Given the description of an element on the screen output the (x, y) to click on. 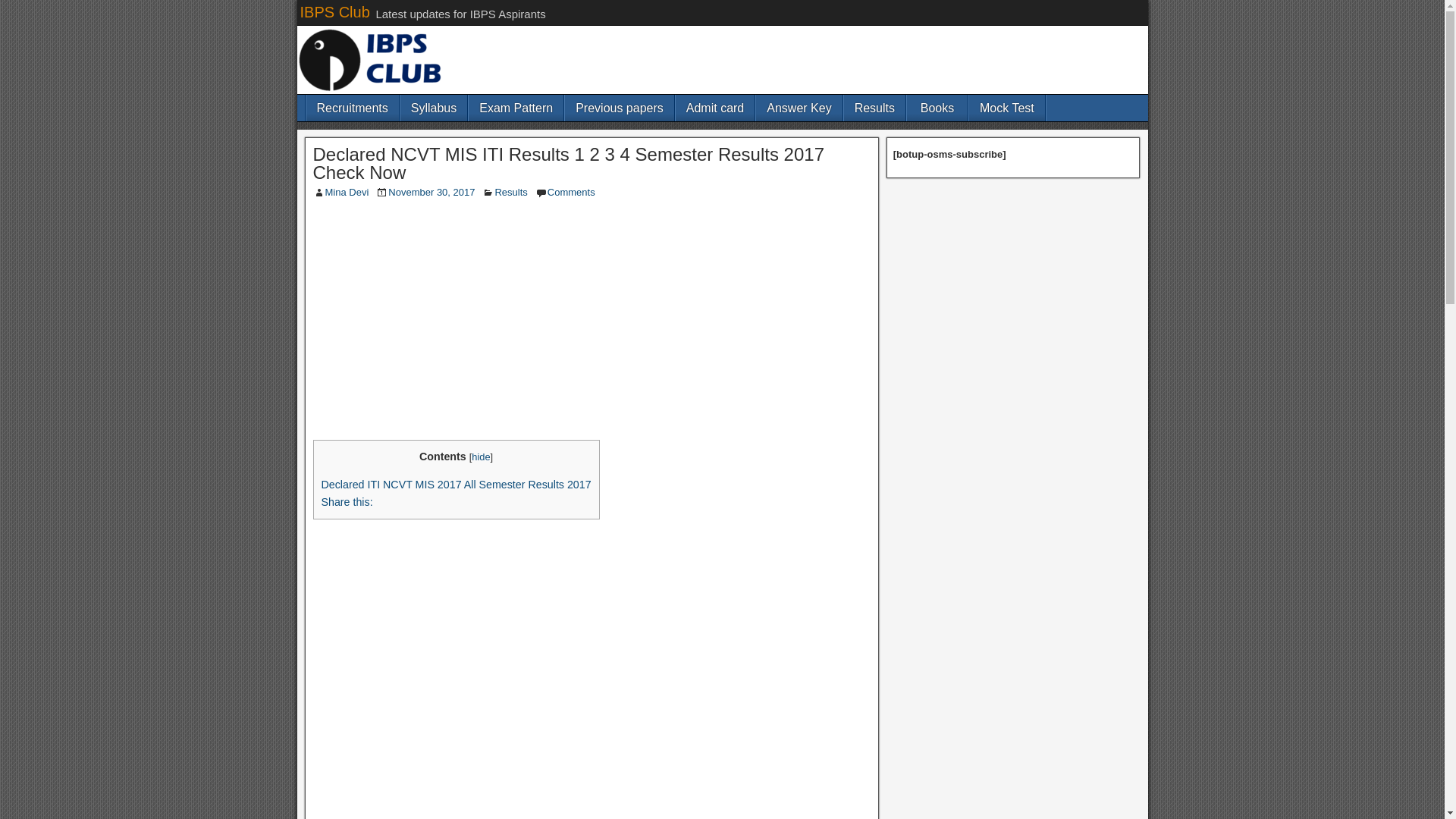
Results (874, 108)
Books (937, 108)
Previous papers (619, 108)
Recruitments (351, 108)
Advertisement (591, 635)
Answer Key (798, 108)
Syllabus (433, 108)
Admit card (714, 108)
Mock Test (1007, 108)
Declared ITI NCVT MIS 2017 All Semester Results 2017 (456, 484)
